Given the description of an element on the screen output the (x, y) to click on. 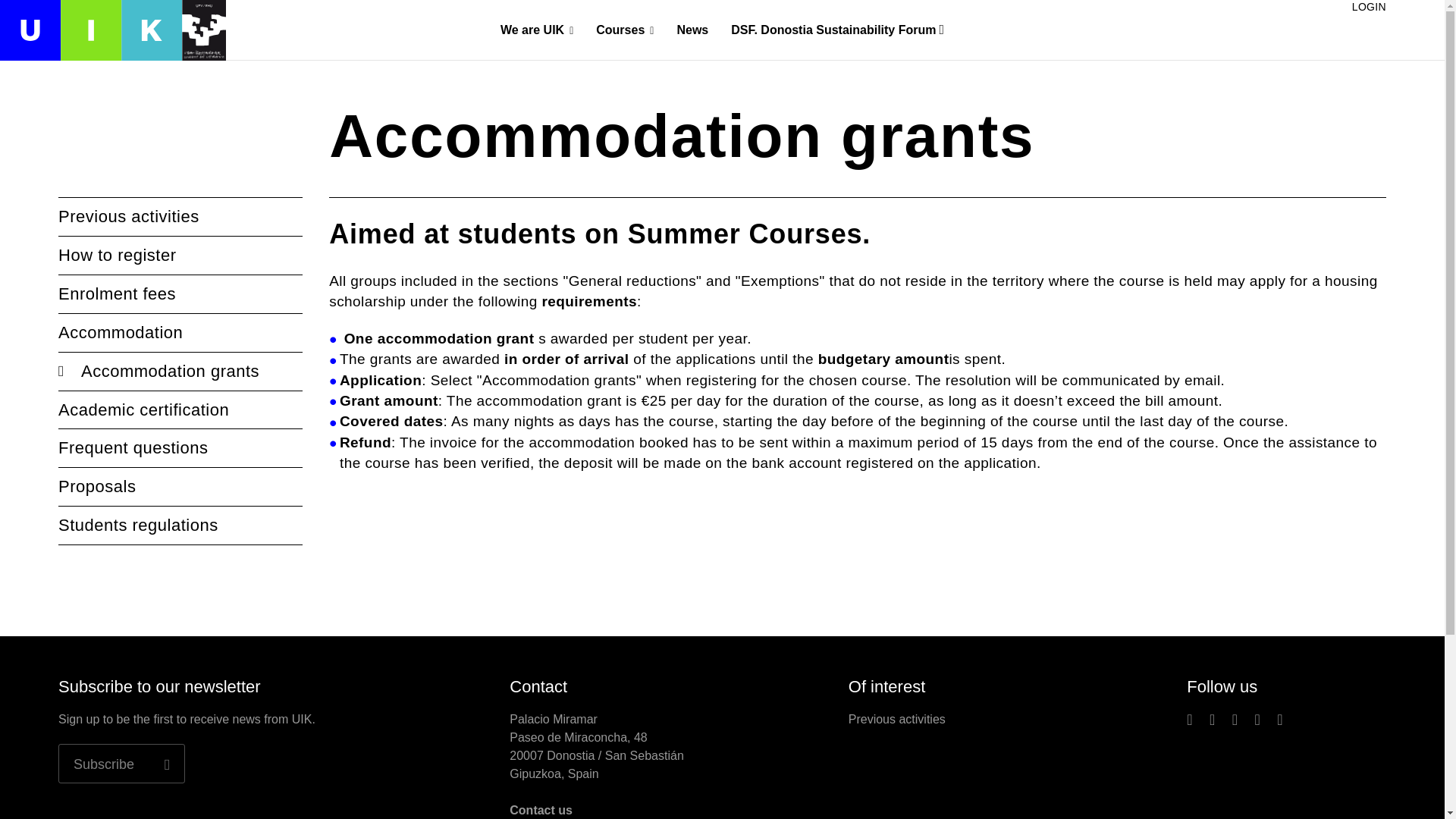
DSF. Donostia Sustainability Forum (836, 29)
News (692, 29)
UIK (112, 30)
Previous activities (180, 216)
